Given the description of an element on the screen output the (x, y) to click on. 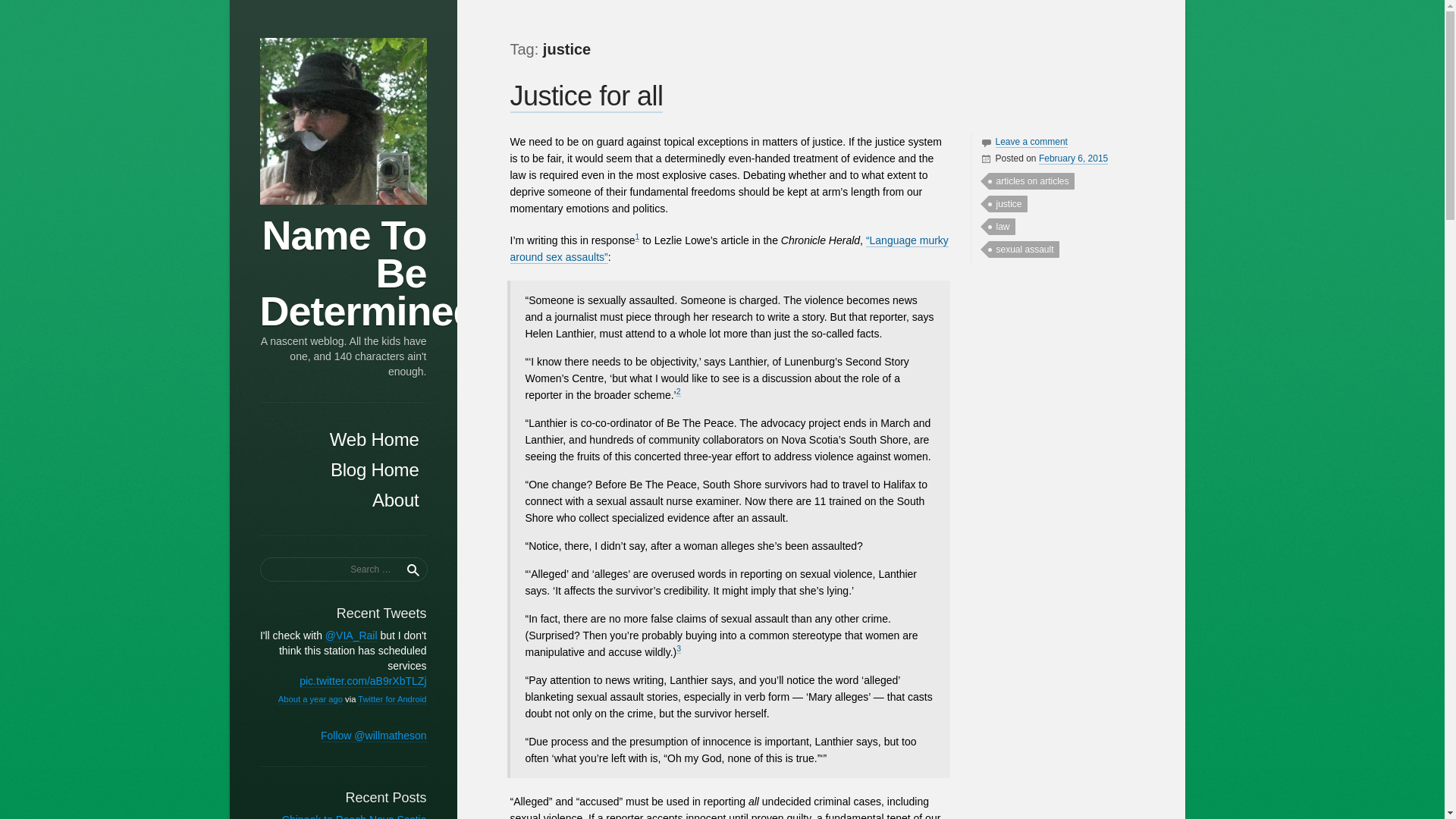
Search (414, 568)
Web Home (342, 440)
About (342, 500)
Skip to content (301, 432)
Permalink to Justice for all (585, 96)
Search (414, 568)
Leave a comment (1030, 142)
Skip to content (301, 432)
Permalink to Justice for all (1073, 158)
Basic information about this blog (342, 500)
Name To Be Determined (342, 120)
justice (1007, 203)
William Matheson (1044, 174)
Return to the default page for this blog (342, 470)
Justice for all (585, 96)
